Given the description of an element on the screen output the (x, y) to click on. 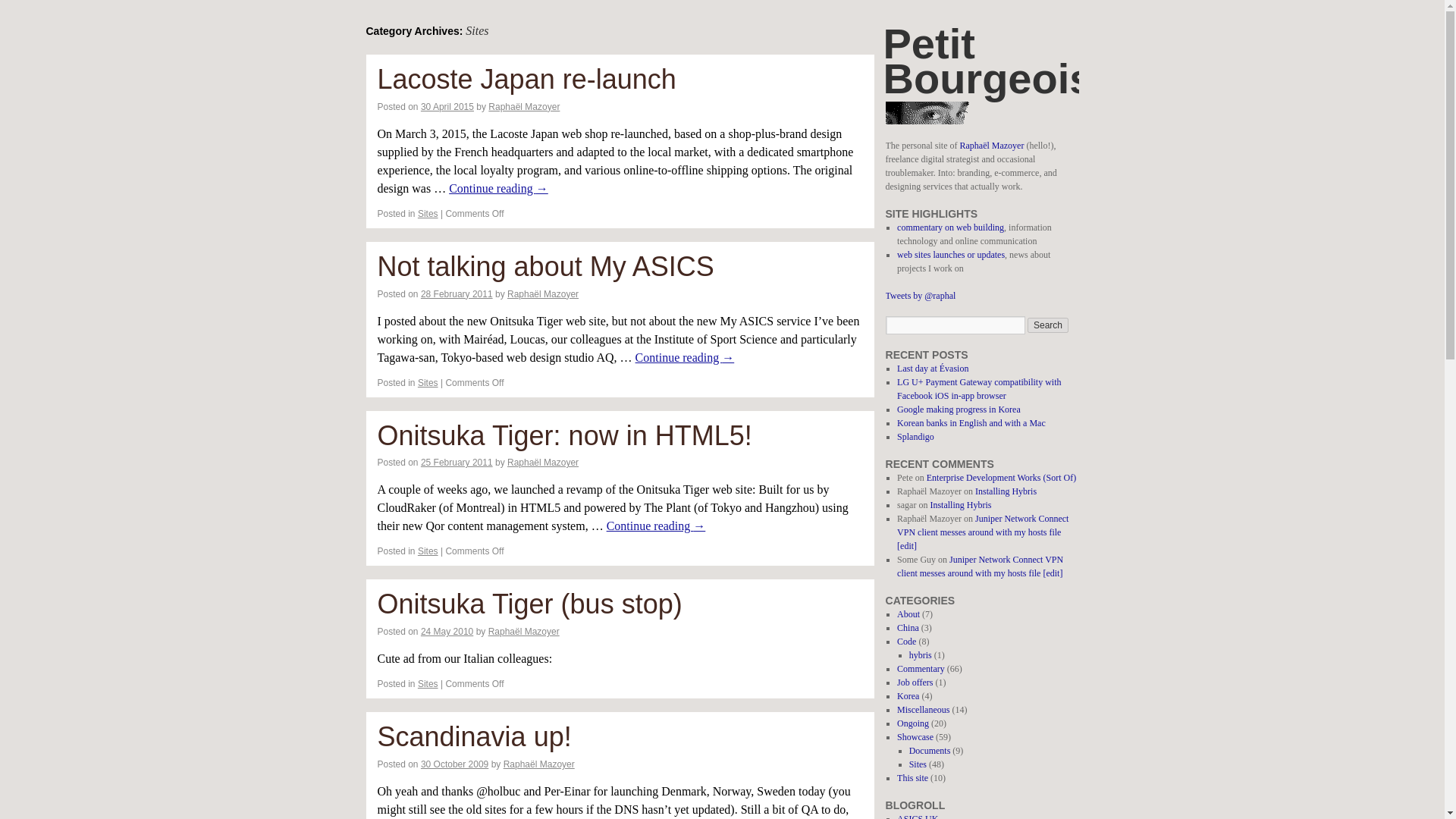
Lacoste Japan re-launch (527, 79)
07:14 (456, 294)
Not talking about My ASICS (545, 265)
Sites (427, 683)
Scandinavia up! (474, 736)
Sites (427, 551)
25 February 2011 (456, 462)
Permalink to Scandinavia up! (474, 736)
30 April 2015 (447, 106)
28 February 2011 (456, 294)
Onitsuka Tiger: now in HTML5! (564, 435)
12:35 (446, 631)
30 October 2009 (453, 764)
Permalink to Onitsuka Tiger: now in HTML5! (564, 435)
00:51 (453, 764)
